Given the description of an element on the screen output the (x, y) to click on. 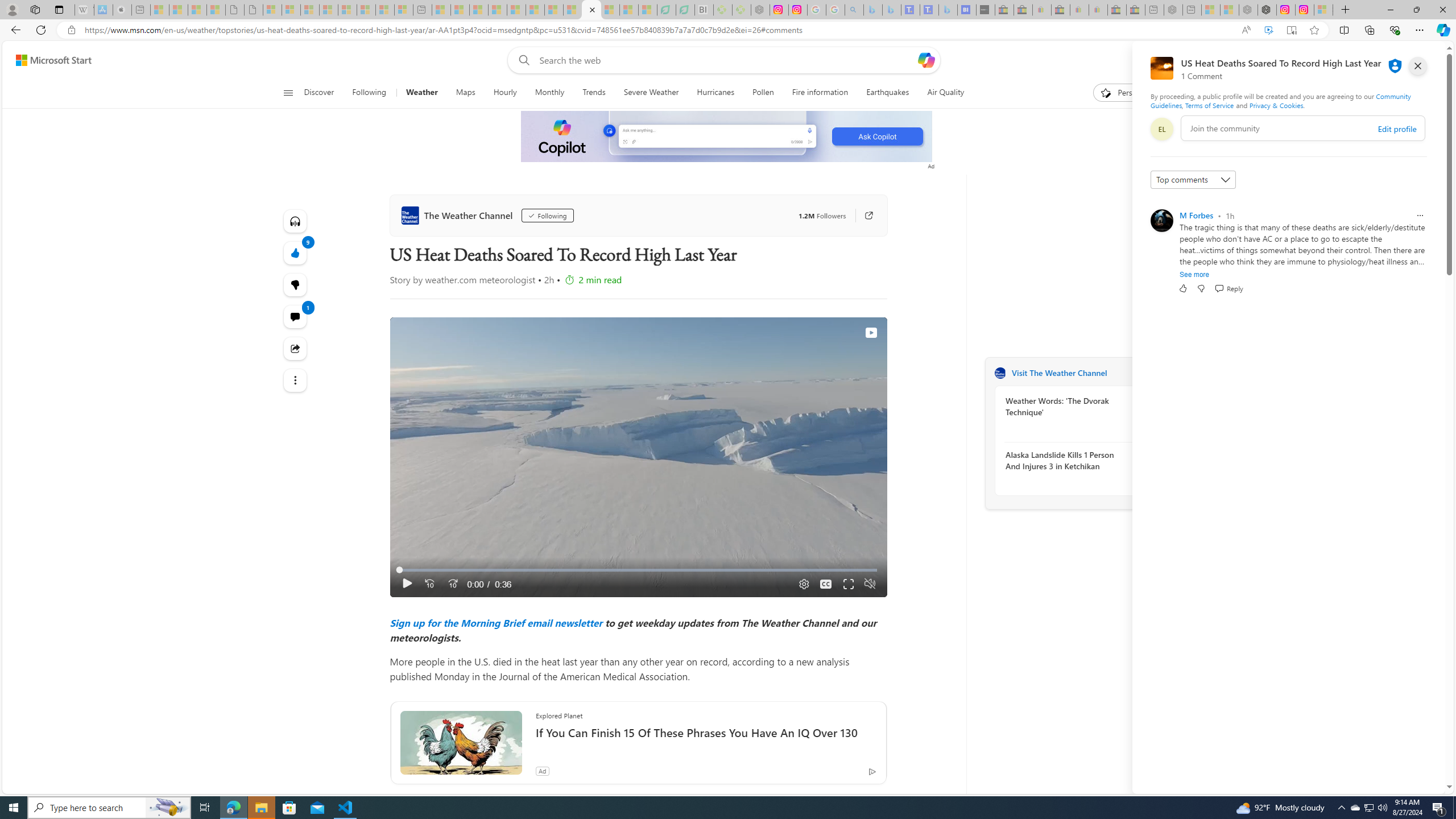
Nordace - Nordace Edin Collection - Sleeping (759, 9)
Personalize (1128, 92)
Weather (422, 92)
View on Watch View on Watch (844, 332)
Like (1182, 287)
Terms of Service (1209, 104)
Class: at-item (295, 380)
Quality Settings (801, 583)
